Given the description of an element on the screen output the (x, y) to click on. 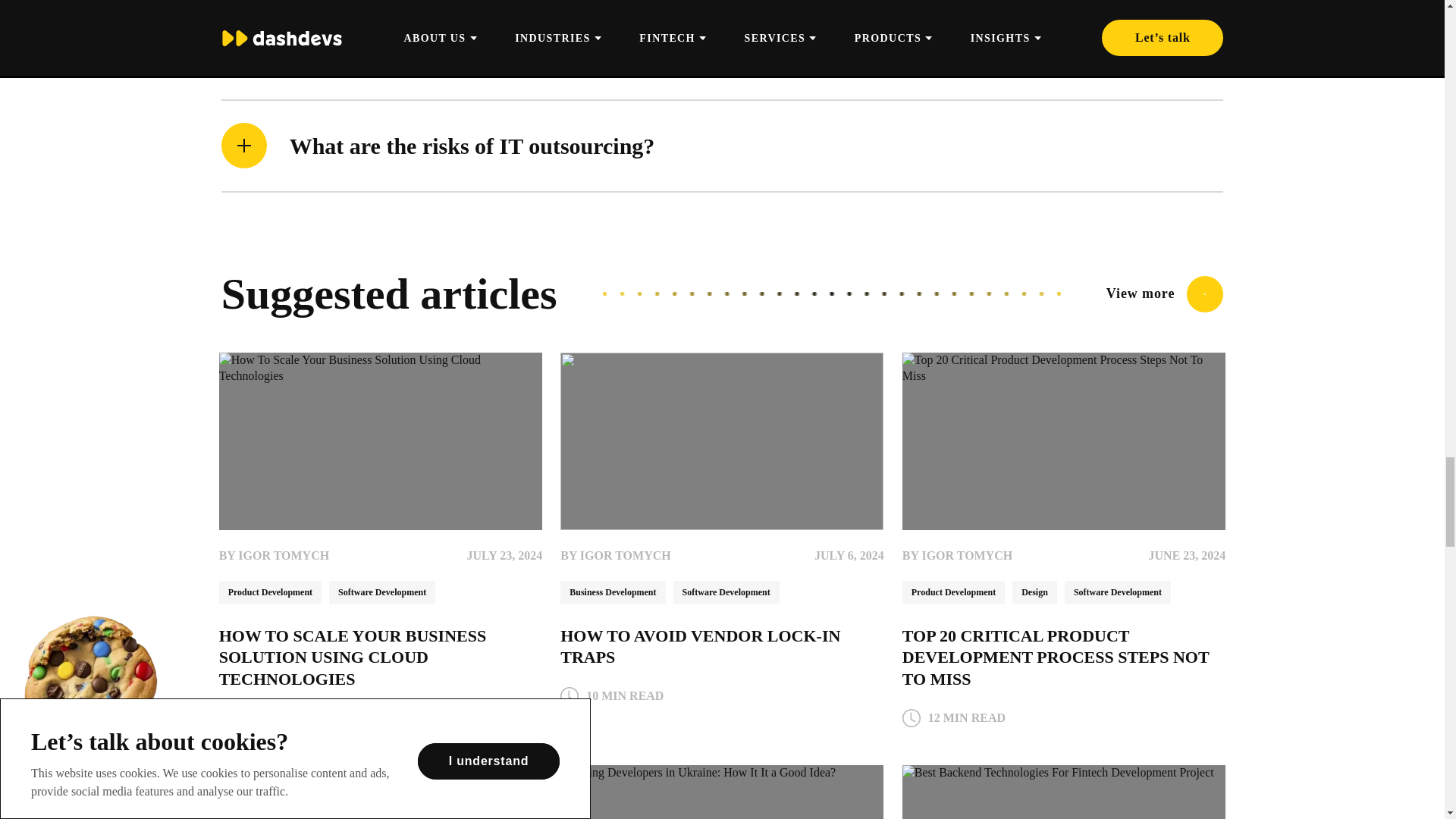
How Long Does It Take to Develop Fintech App? (380, 791)
How To Scale Your Business Solution Using Cloud Technologies (380, 440)
Best Backend Technologies For Fintech Development Project (1063, 791)
Hiring Developers in Ukraine: How It It a Good Idea? (721, 791)
